Given the description of an element on the screen output the (x, y) to click on. 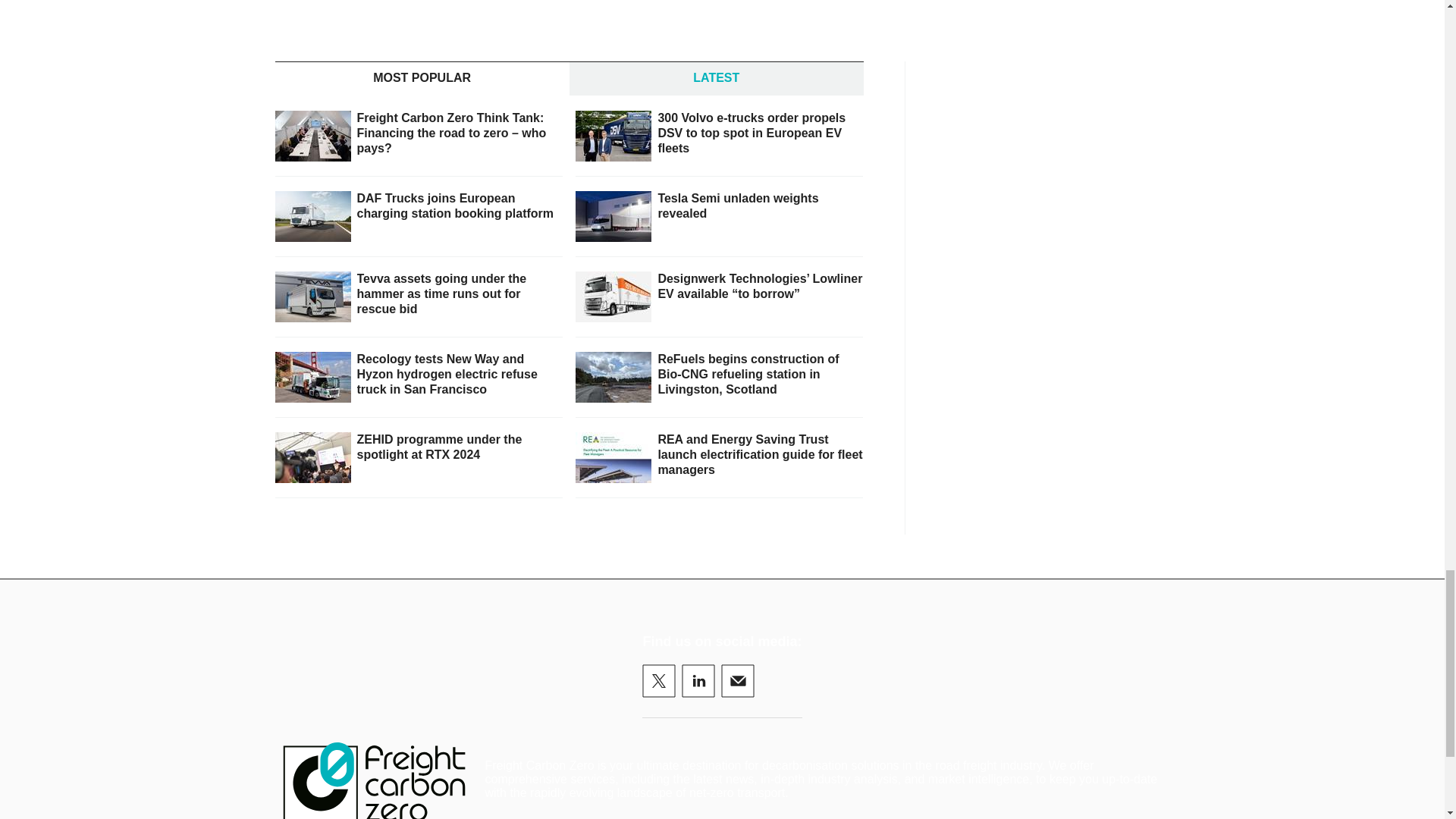
Email us (737, 680)
Connect with us on Linked In (697, 680)
Connect with us on Twitter (658, 680)
